Given the description of an element on the screen output the (x, y) to click on. 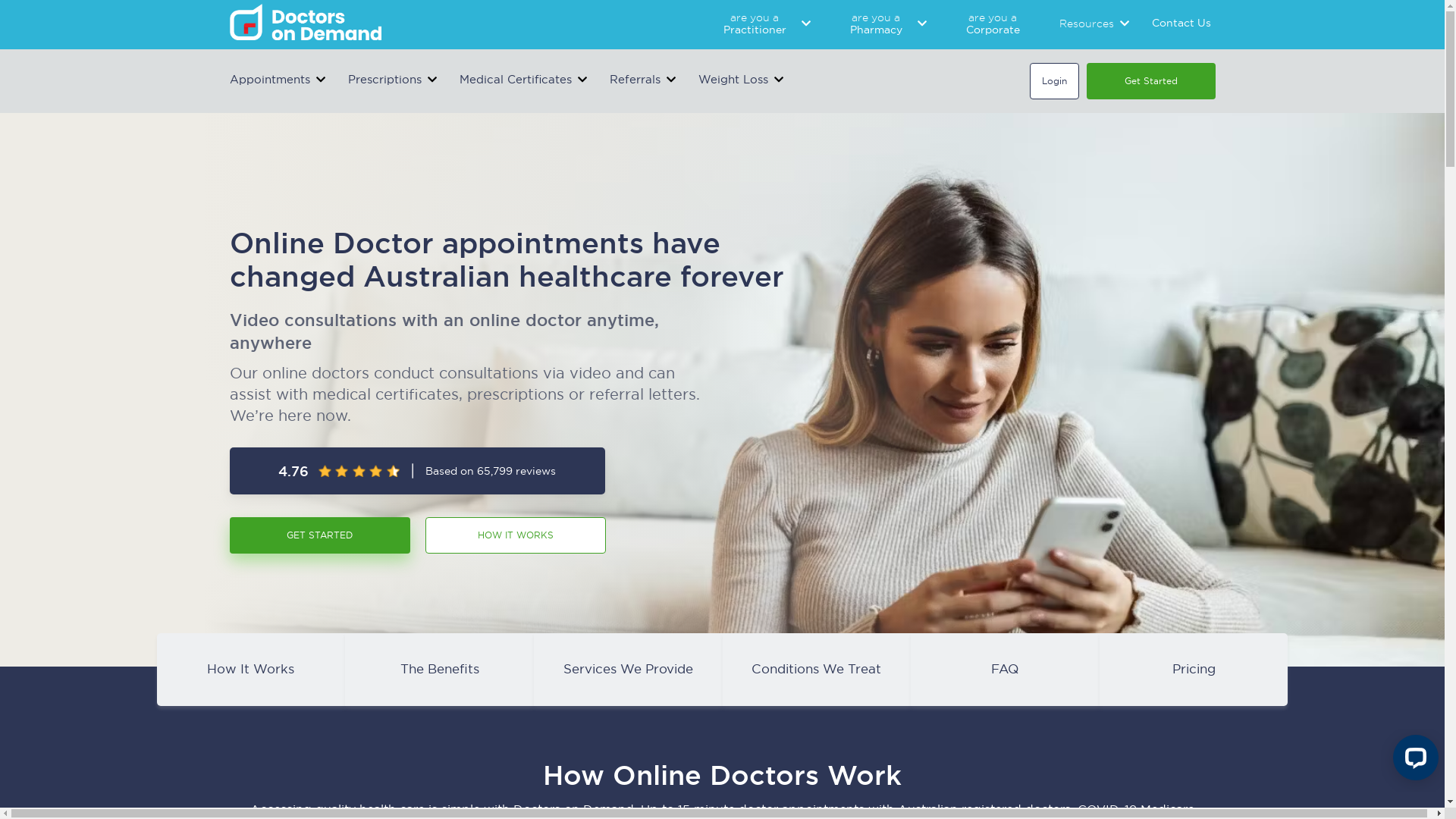
are you a
Pharmacy Element type: text (875, 22)
Prescriptions Element type: text (383, 79)
HOW IT WORKS Element type: text (514, 535)
Referrals Element type: text (634, 79)
Contact Us Element type: text (1180, 22)
Pricing Element type: text (1193, 669)
Get Started Element type: text (1149, 80)
GET STARTED Element type: text (319, 535)
How It Works Element type: text (250, 669)
Conditions We Treat Element type: text (815, 669)
HOW IT WORKS Element type: text (522, 534)
The Benefits Element type: text (439, 669)
FAQ Element type: text (1004, 669)
Appointments Element type: text (269, 79)
are you a
Practitioner Element type: text (754, 22)
Medical Certificates Element type: text (515, 79)
LiveChat chat widget Element type: hover (1412, 760)
Services We Provide Element type: text (627, 669)
Weight Loss Element type: text (732, 79)
are you a
Corporate Element type: text (992, 22)
Login Element type: text (1054, 80)
